Given the description of an element on the screen output the (x, y) to click on. 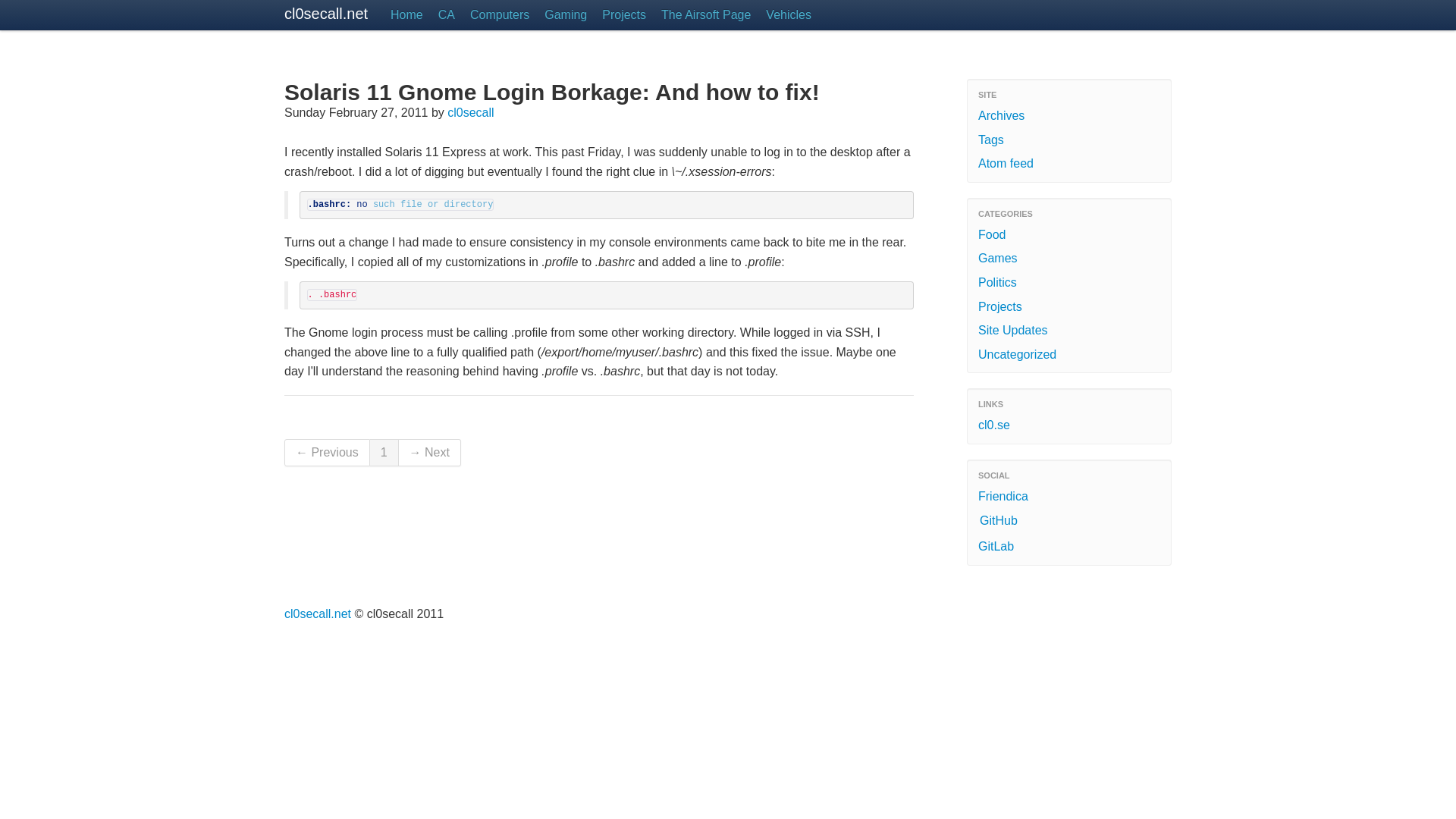
The Airsoft Page (705, 15)
Atom feed (1069, 163)
Food (1069, 234)
cl0secall (469, 112)
GitLab (1069, 546)
1 (383, 452)
GitHub (1069, 521)
Vehicles (788, 15)
Friendica (1069, 496)
cl0.se (1069, 425)
